Given the description of an element on the screen output the (x, y) to click on. 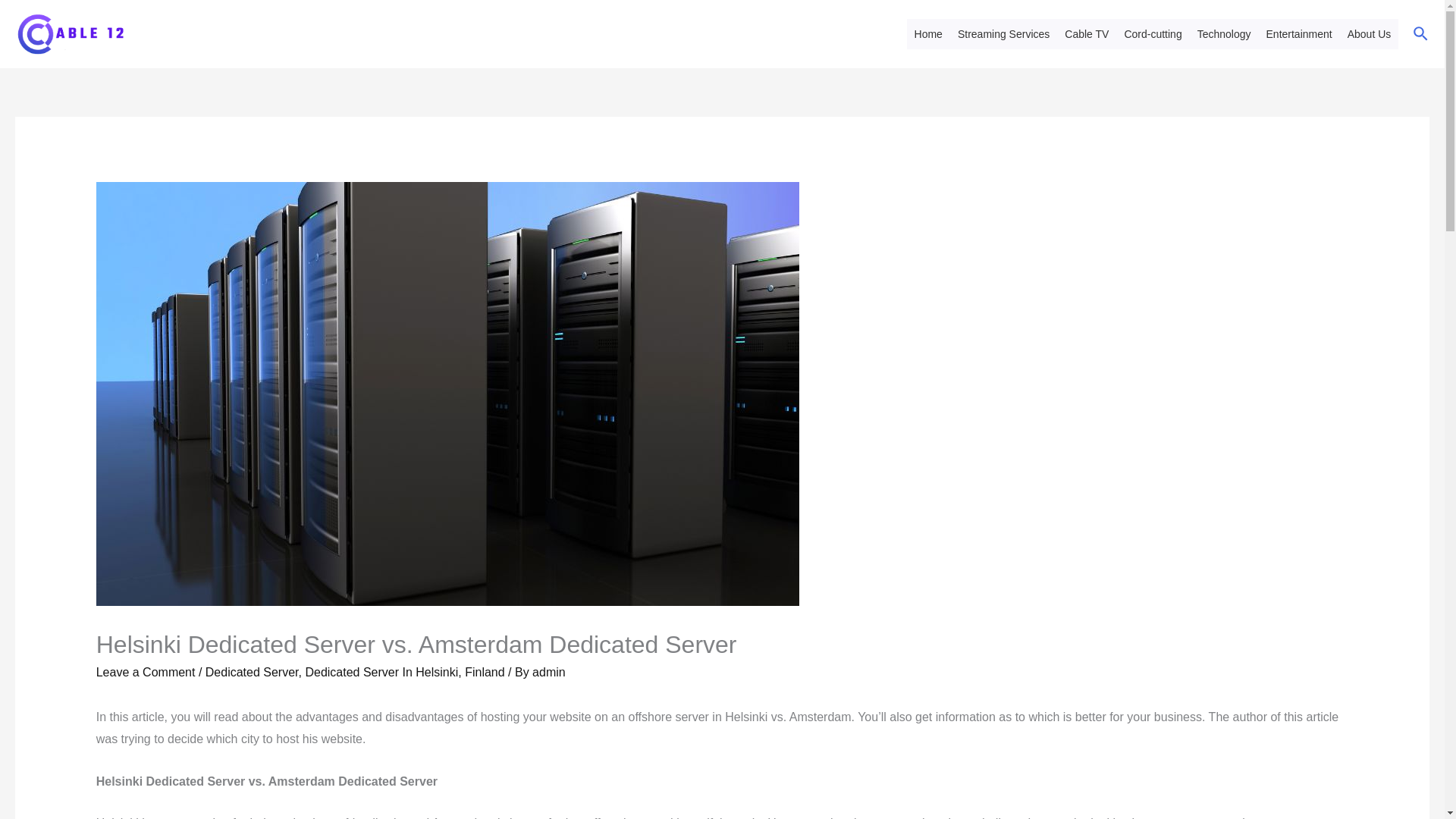
Entertainment (1299, 33)
Streaming Services (1003, 33)
Leave a Comment (145, 671)
admin (549, 671)
About Us (1369, 33)
Dedicated Server In Helsinki, Finland (403, 671)
Cable TV (1086, 33)
View all posts by admin (549, 671)
Cord-cutting (1152, 33)
Technology (1224, 33)
